Given the description of an element on the screen output the (x, y) to click on. 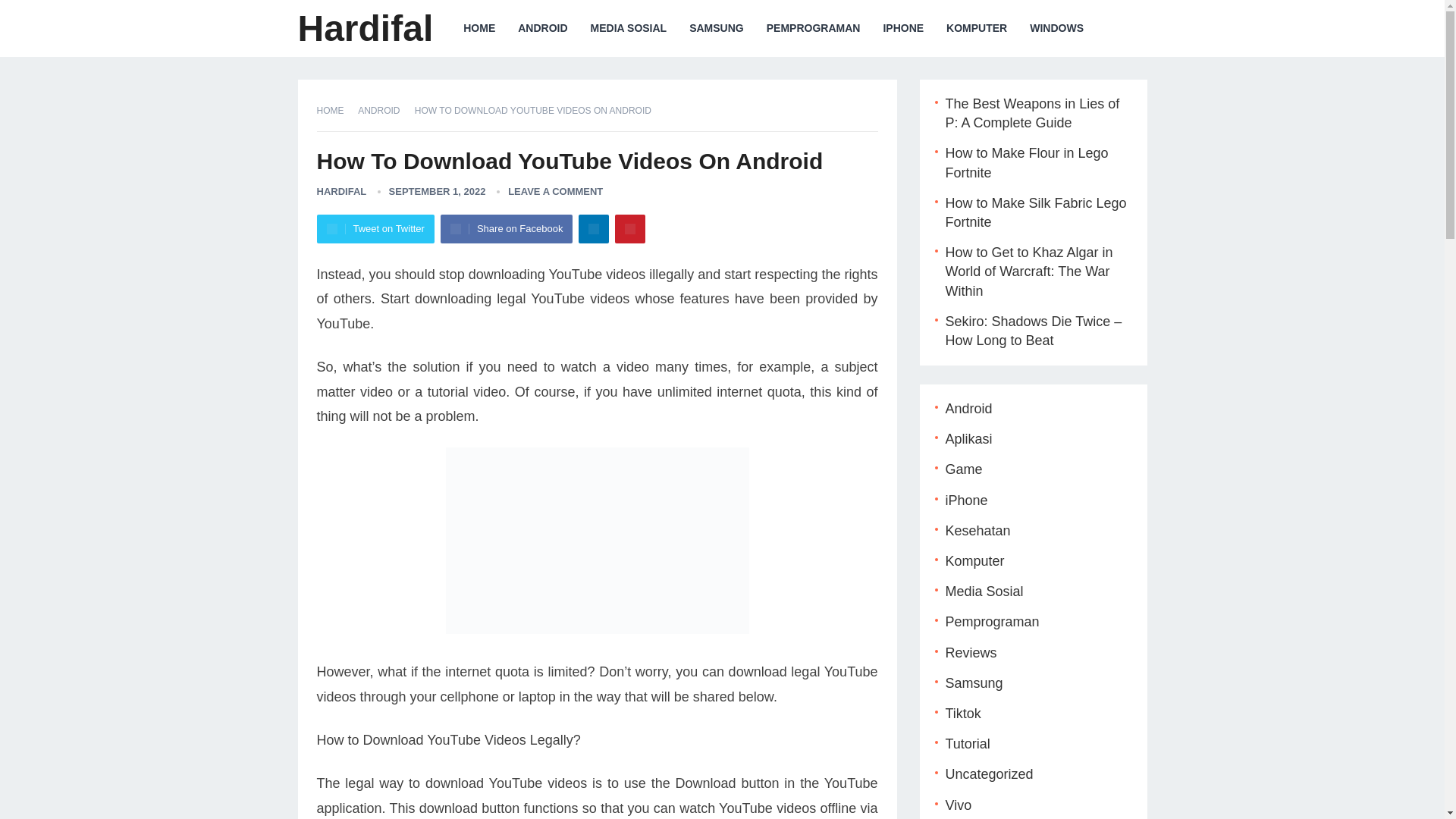
SAMSUNG (716, 28)
LEAVE A COMMENT (555, 191)
WINDOWS (1055, 28)
HOME (336, 110)
PEMPROGRAMAN (813, 28)
Posts by hardifal (341, 191)
KOMPUTER (975, 28)
Hardifal (364, 28)
ANDROID (384, 110)
LinkedIn (593, 228)
